Given the description of an element on the screen output the (x, y) to click on. 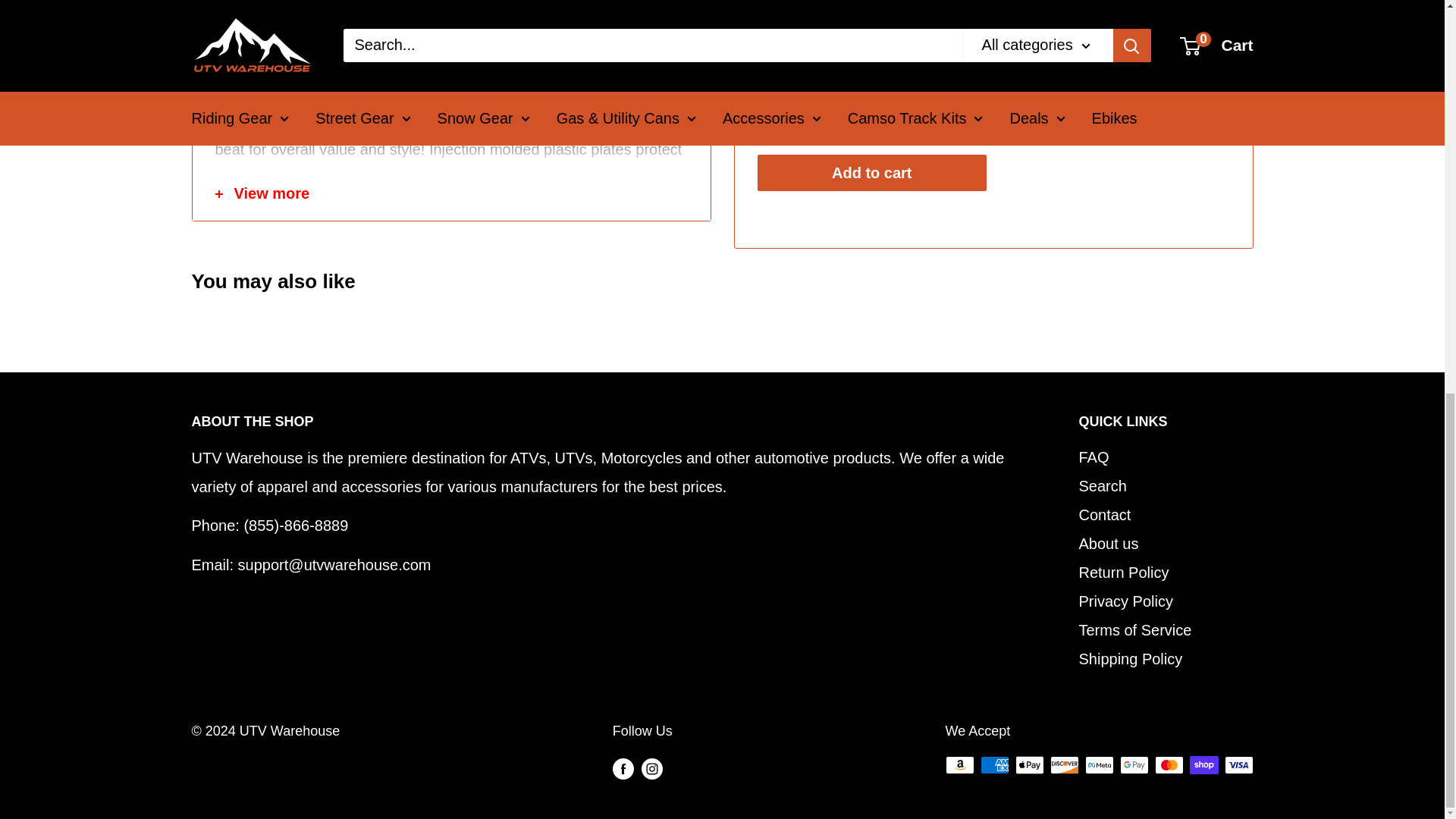
1 (889, 116)
